Given the description of an element on the screen output the (x, y) to click on. 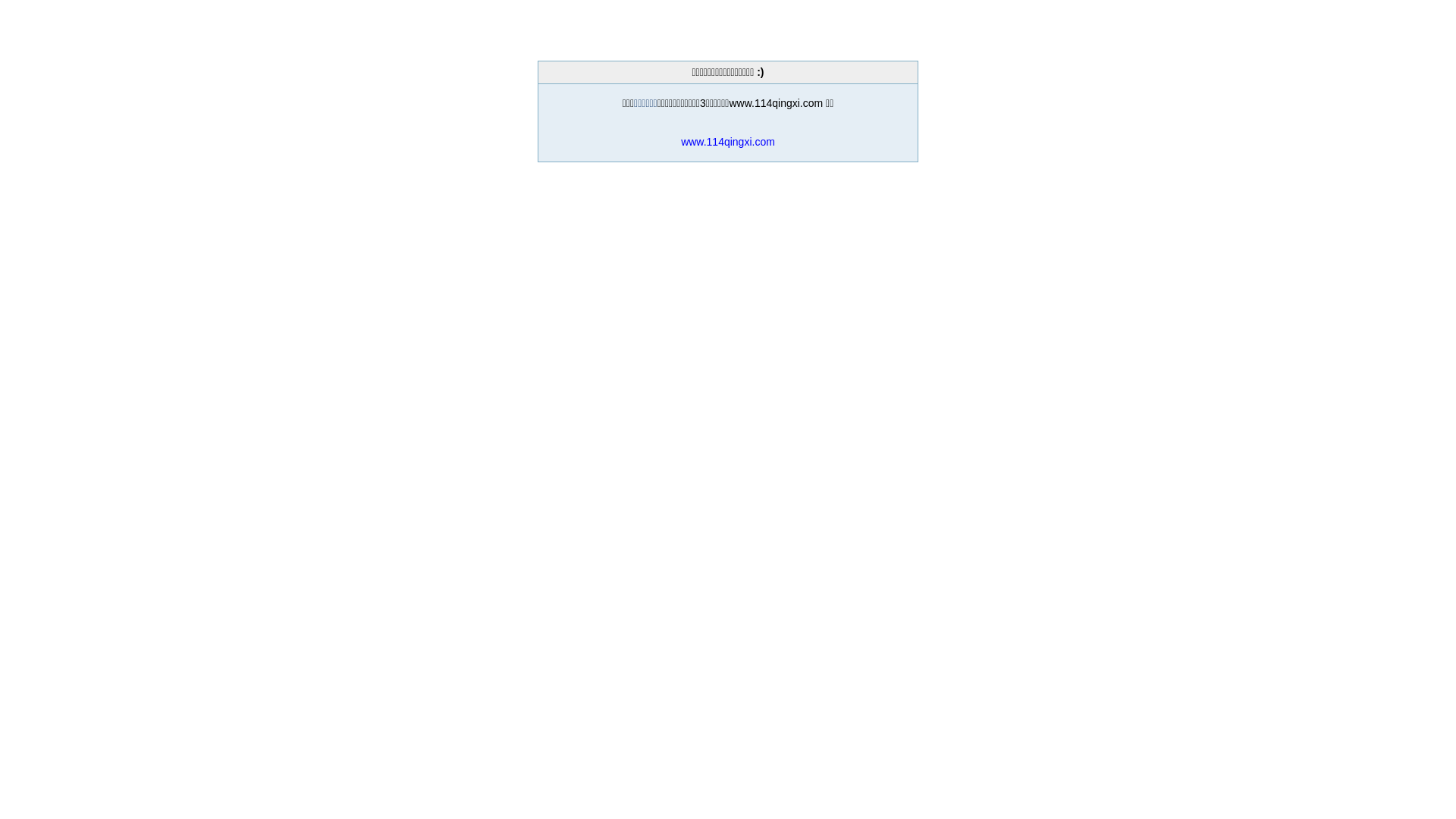
www.114qingxi.com Element type: text (727, 141)
